Given the description of an element on the screen output the (x, y) to click on. 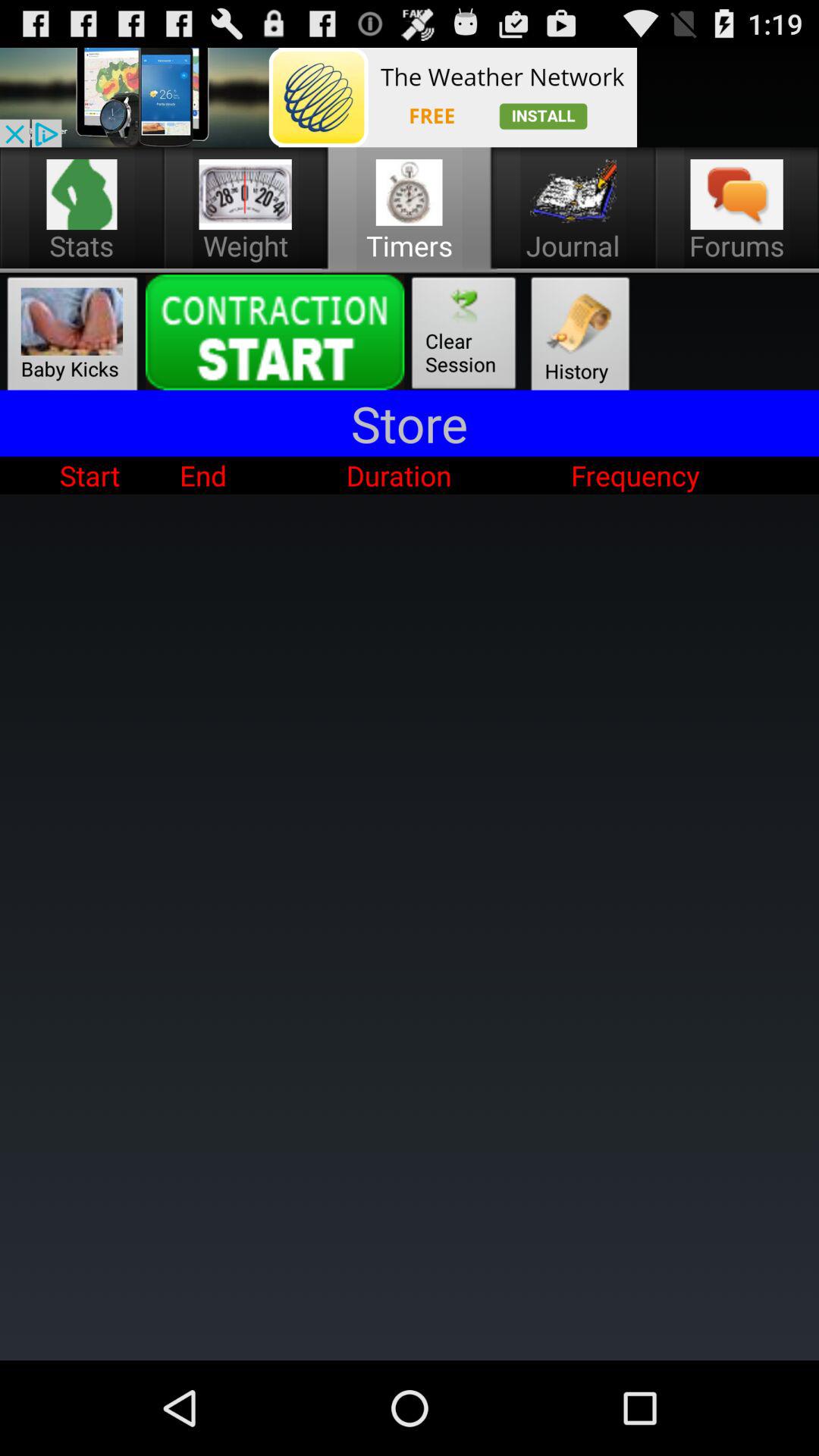
start button (274, 332)
